Given the description of an element on the screen output the (x, y) to click on. 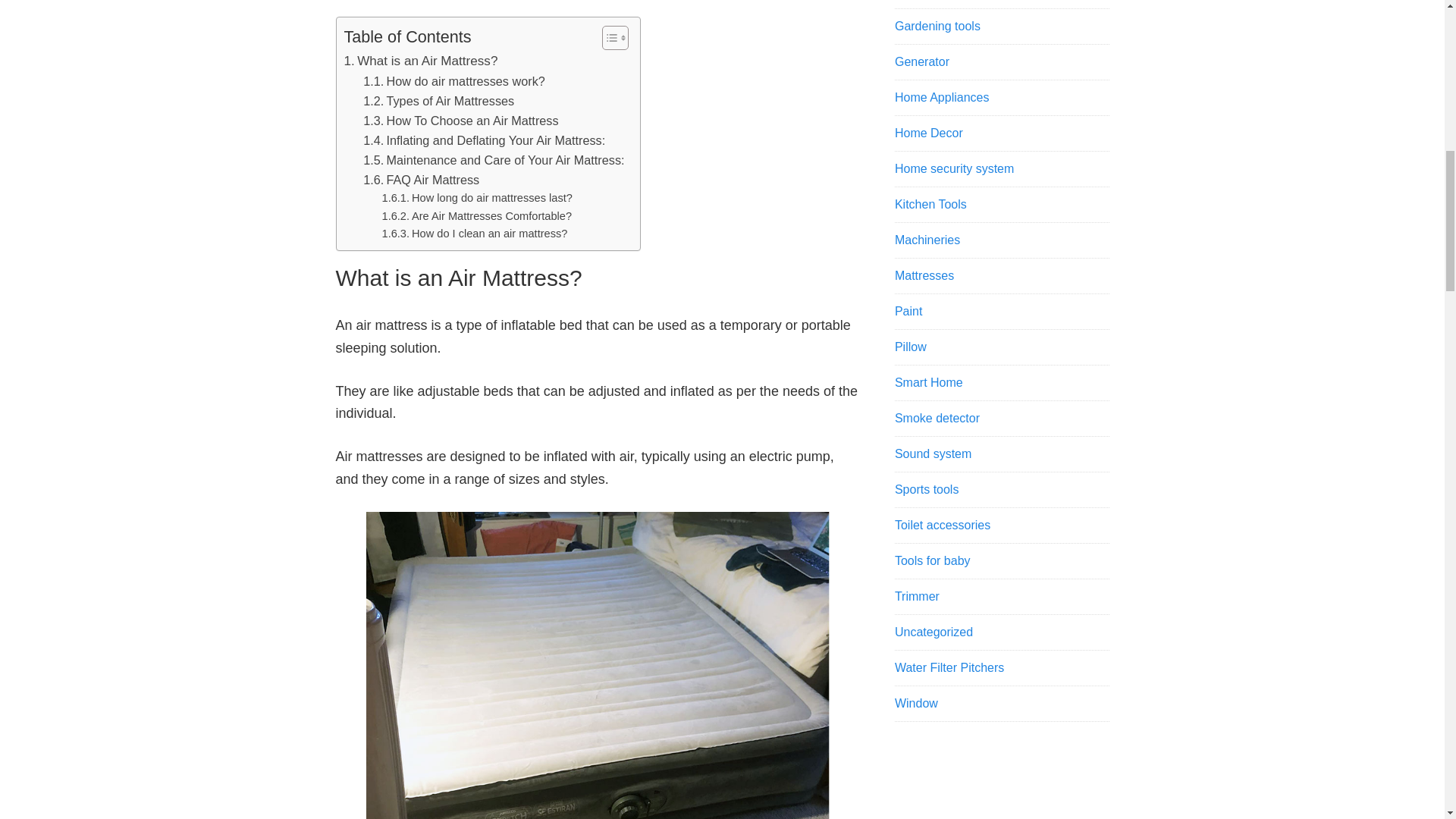
How do I clean an air mattress? (474, 233)
Are Air Mattresses Comfortable? (476, 216)
How long do air mattresses last? (476, 198)
What is an Air Mattress? (420, 60)
Home Decor (928, 132)
How To Choose an Air Mattress (459, 120)
Inflating and Deflating Your Air Mattress: (483, 139)
Types of Air Mattresses (437, 100)
What is an Air Mattress? (420, 60)
How do I clean an air mattress? (474, 233)
